Given the description of an element on the screen output the (x, y) to click on. 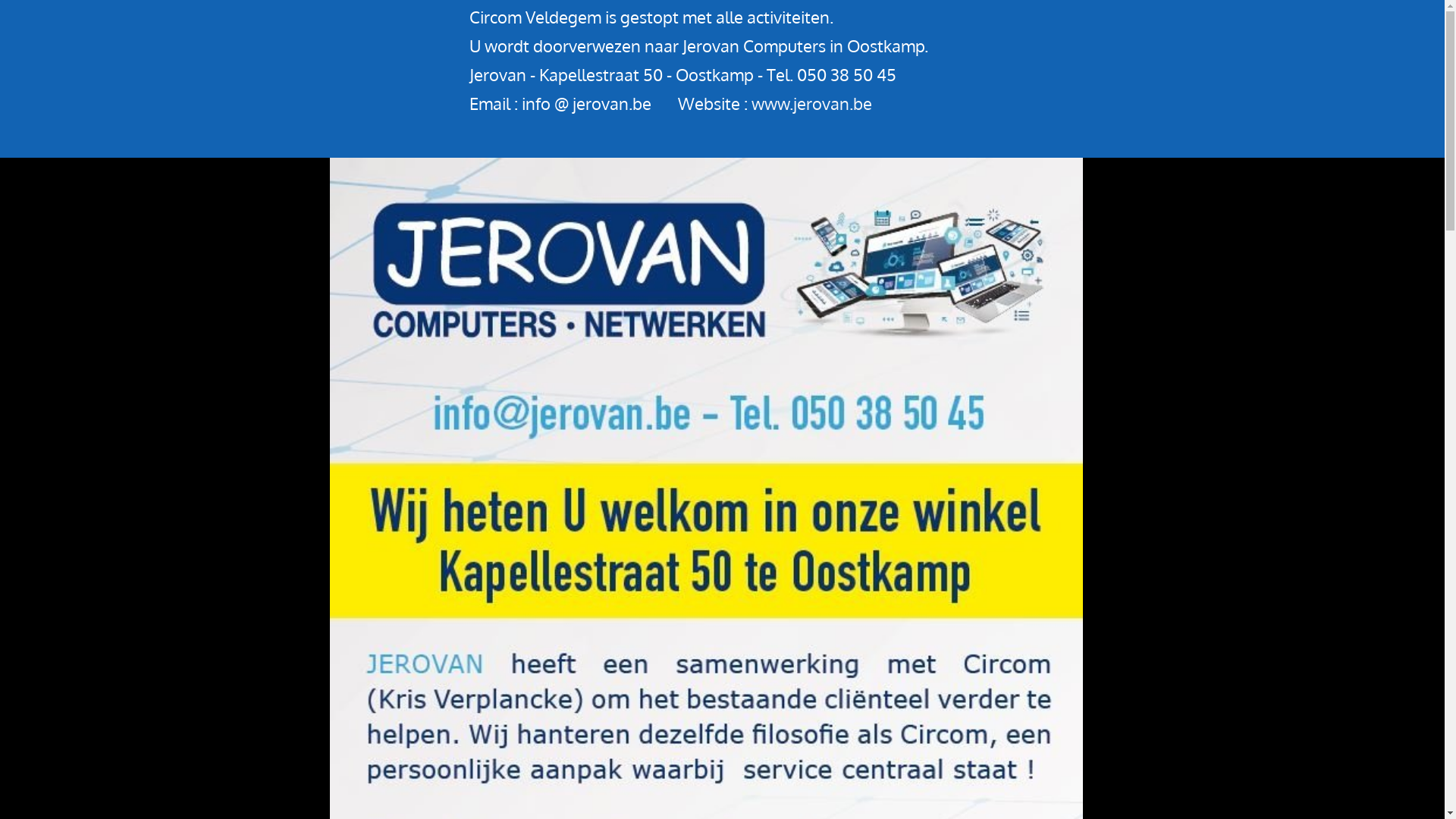
www.jerovan.be Element type: text (810, 102)
